Given the description of an element on the screen output the (x, y) to click on. 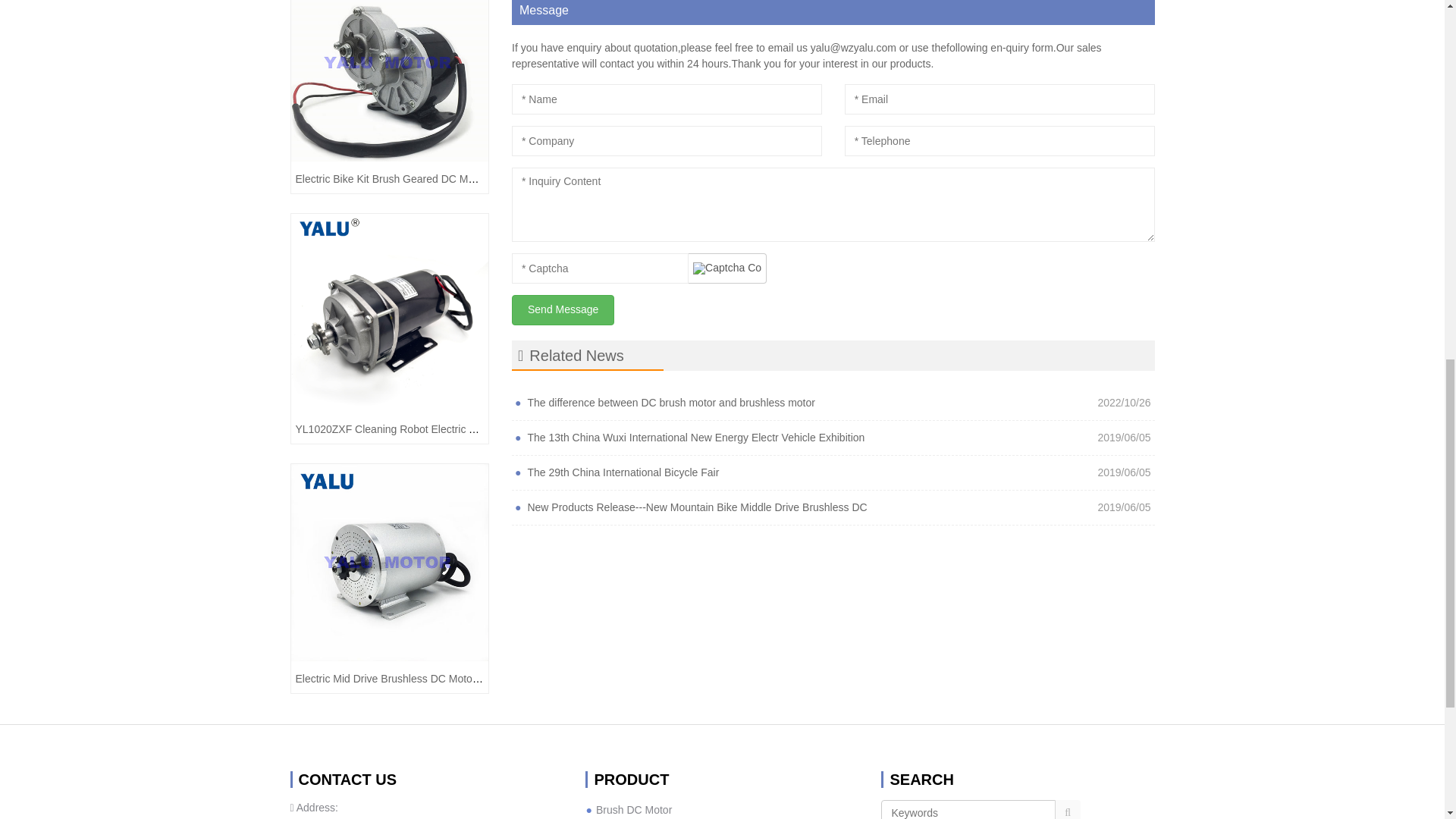
Send Message (563, 309)
